Given the description of an element on the screen output the (x, y) to click on. 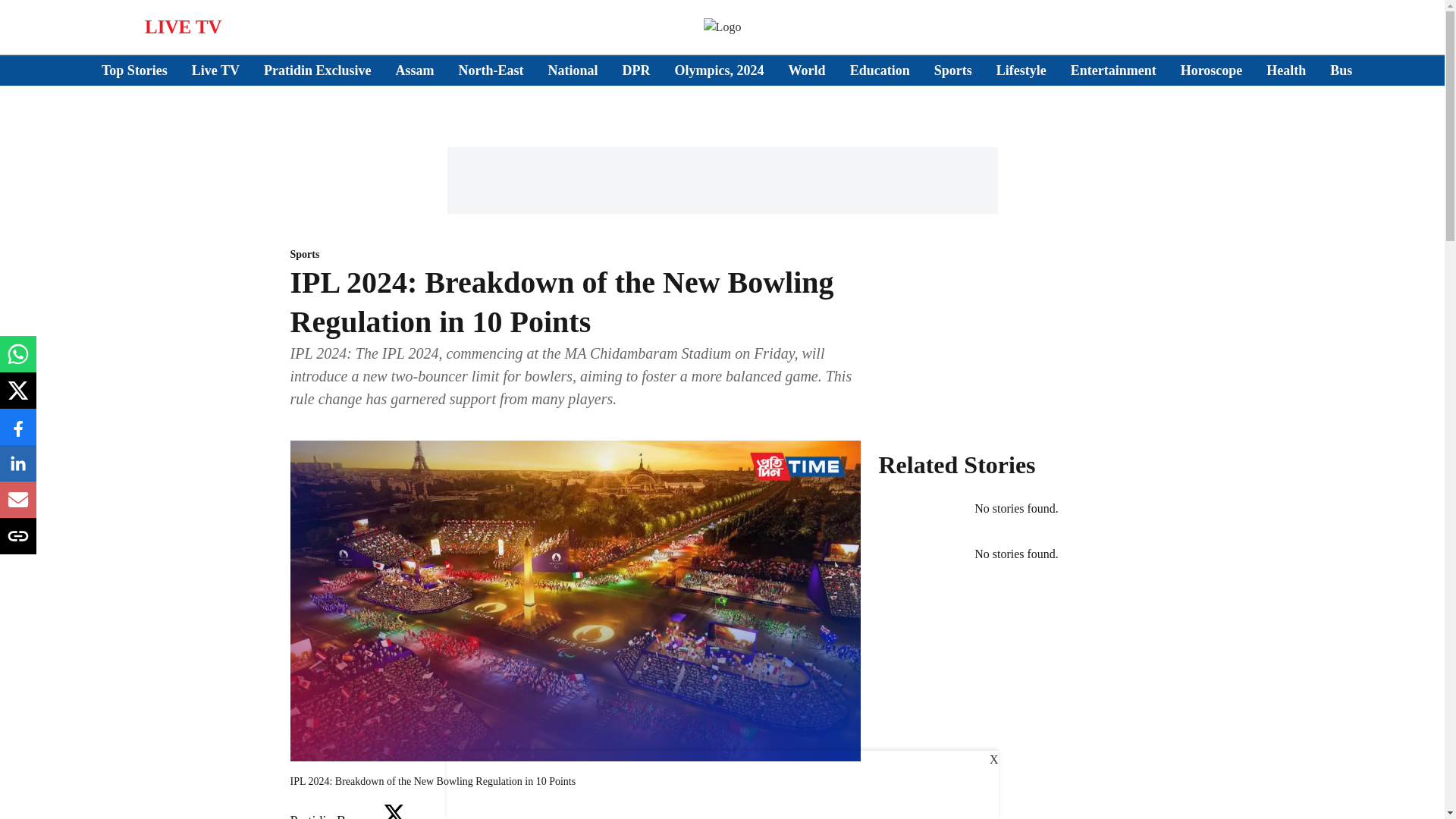
Sports (574, 254)
North-East (491, 70)
Education (880, 70)
DPR (636, 70)
National (573, 70)
Business (1355, 70)
Live TV (216, 70)
Entertainment (1113, 70)
Pratidin Exclusive (317, 70)
Pratidin Bureau (332, 816)
